Given the description of an element on the screen output the (x, y) to click on. 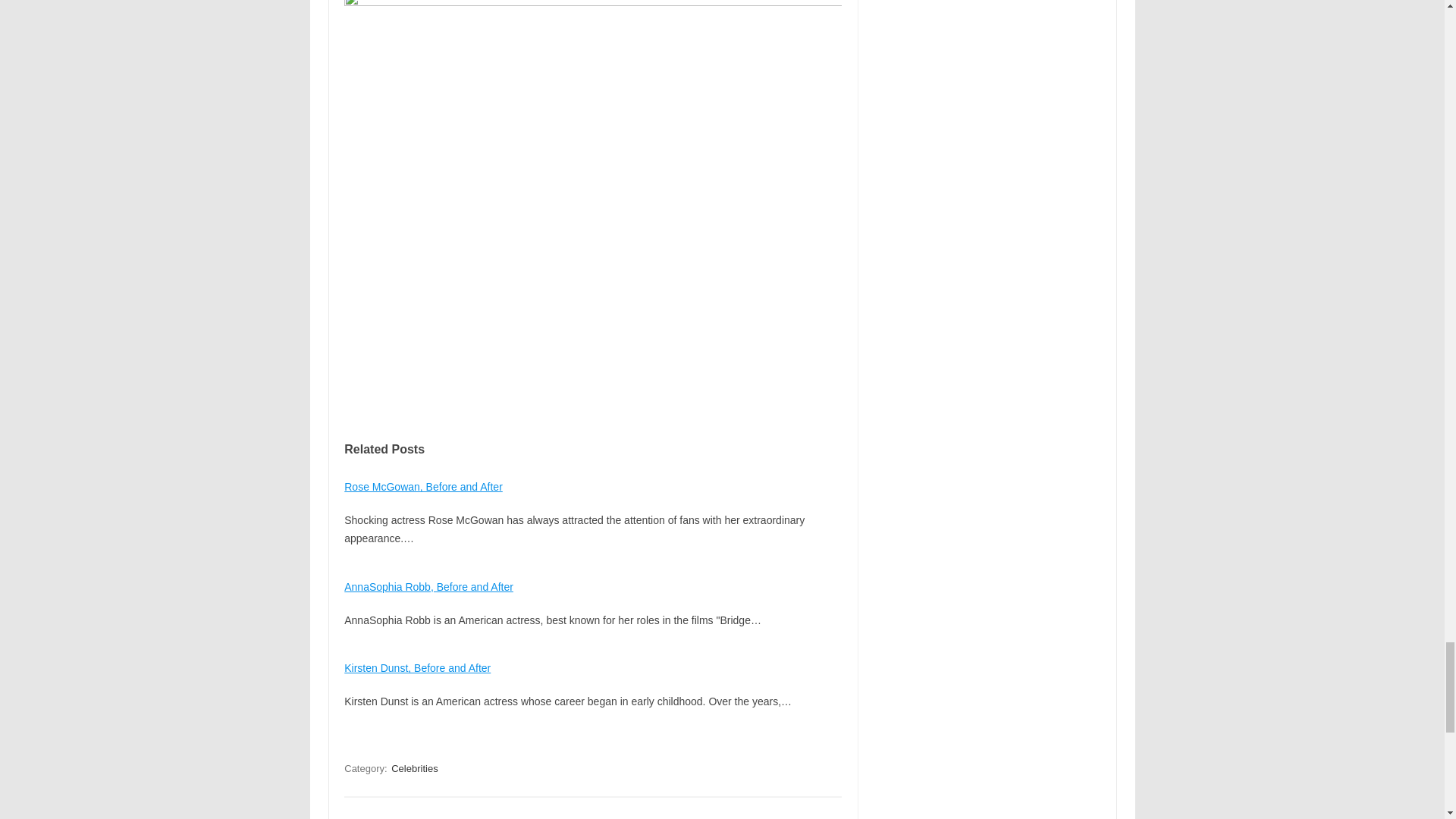
Kirsten Dunst, Before and After (416, 667)
AnnaSophia Robb, Before and After (428, 586)
Rose McGowan, Before and After (422, 486)
Celebrities (414, 768)
